Given the description of an element on the screen output the (x, y) to click on. 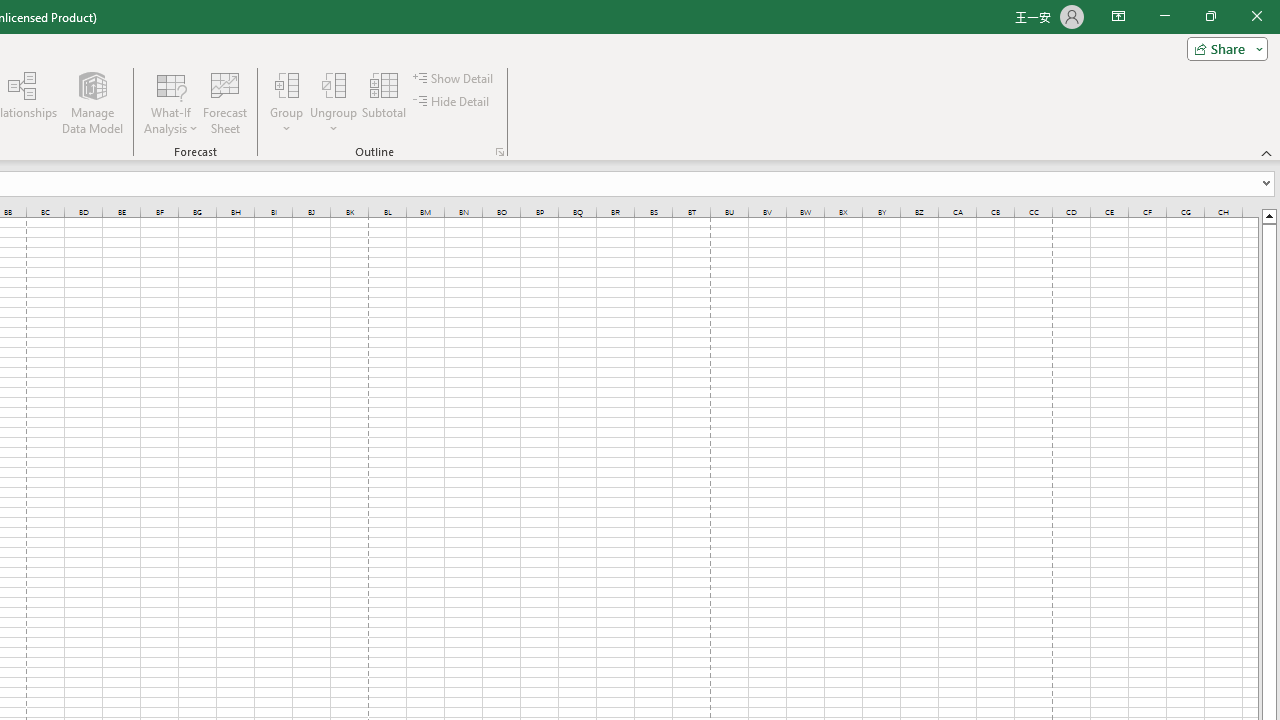
Group and Outline Settings (499, 151)
What-If Analysis (171, 102)
Hide Detail (452, 101)
Forecast Sheet (224, 102)
Subtotal (384, 102)
